Given the description of an element on the screen output the (x, y) to click on. 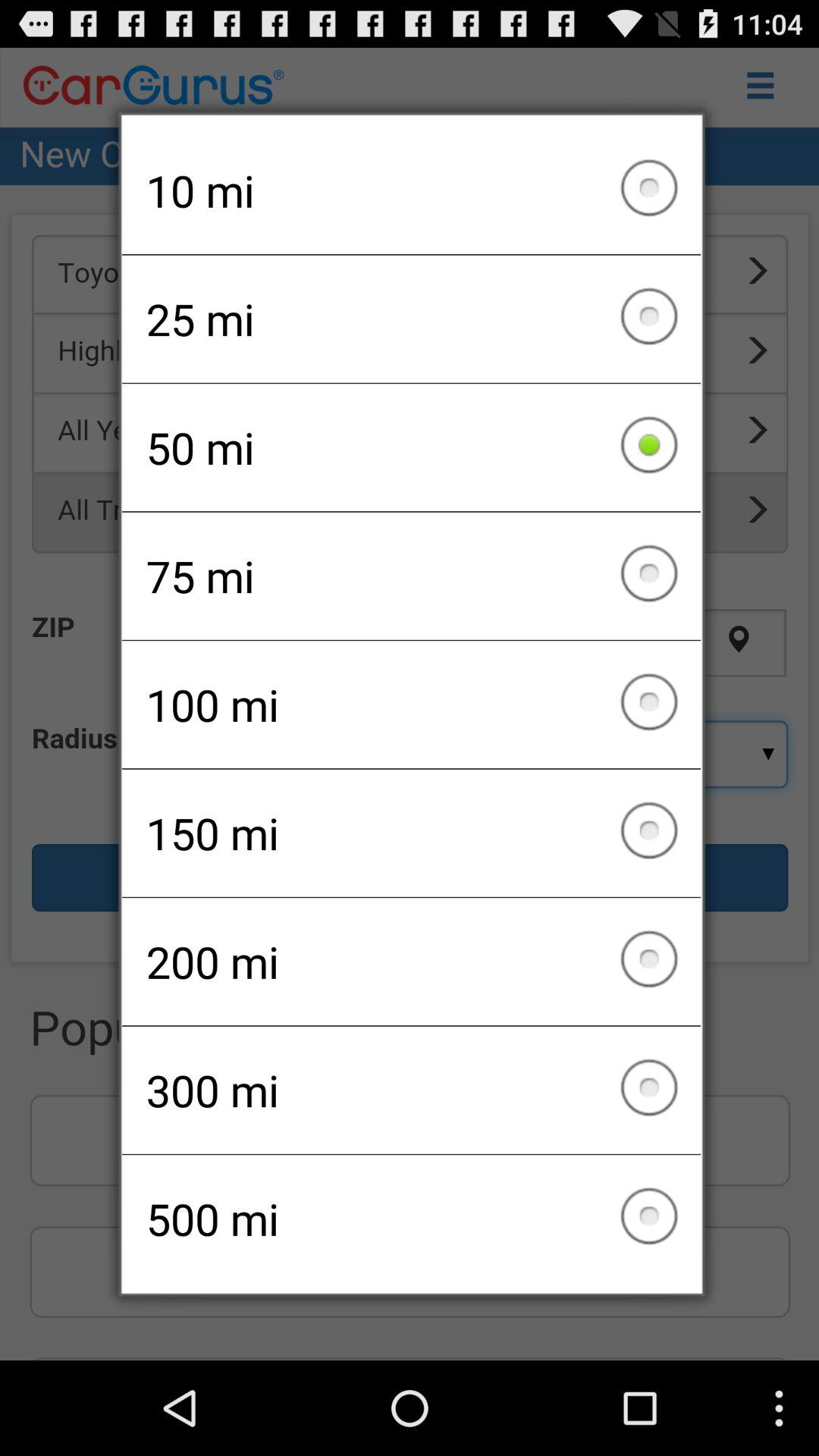
press item above the 50 mi (411, 318)
